Given the description of an element on the screen output the (x, y) to click on. 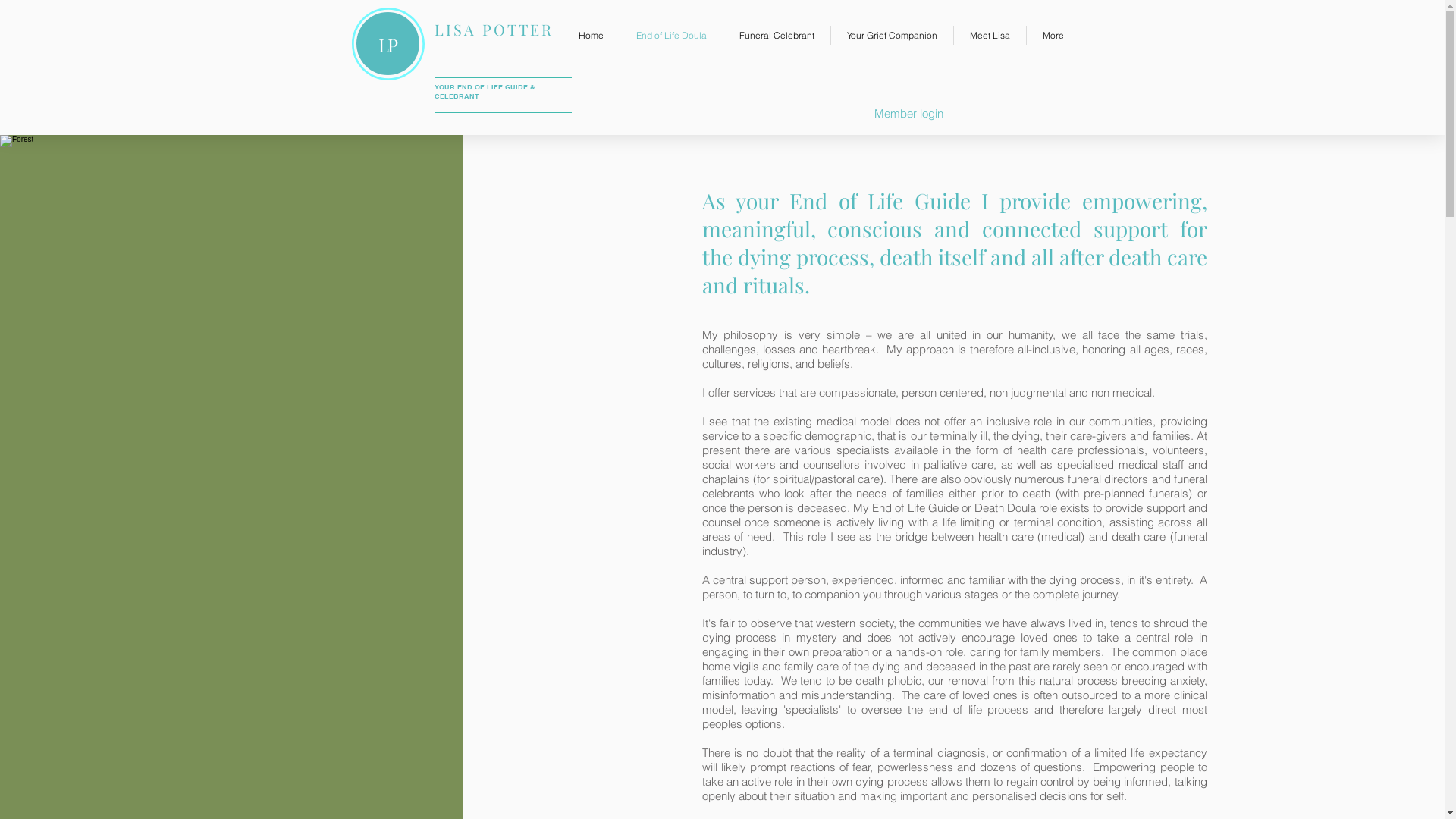
Funeral Celebrant Element type: text (776, 34)
End of Life Doula Element type: text (671, 34)
Member login Element type: text (907, 112)
Your Grief Companion Element type: text (892, 34)
Meet Lisa Element type: text (989, 34)
Home Element type: text (590, 34)
